Given the description of an element on the screen output the (x, y) to click on. 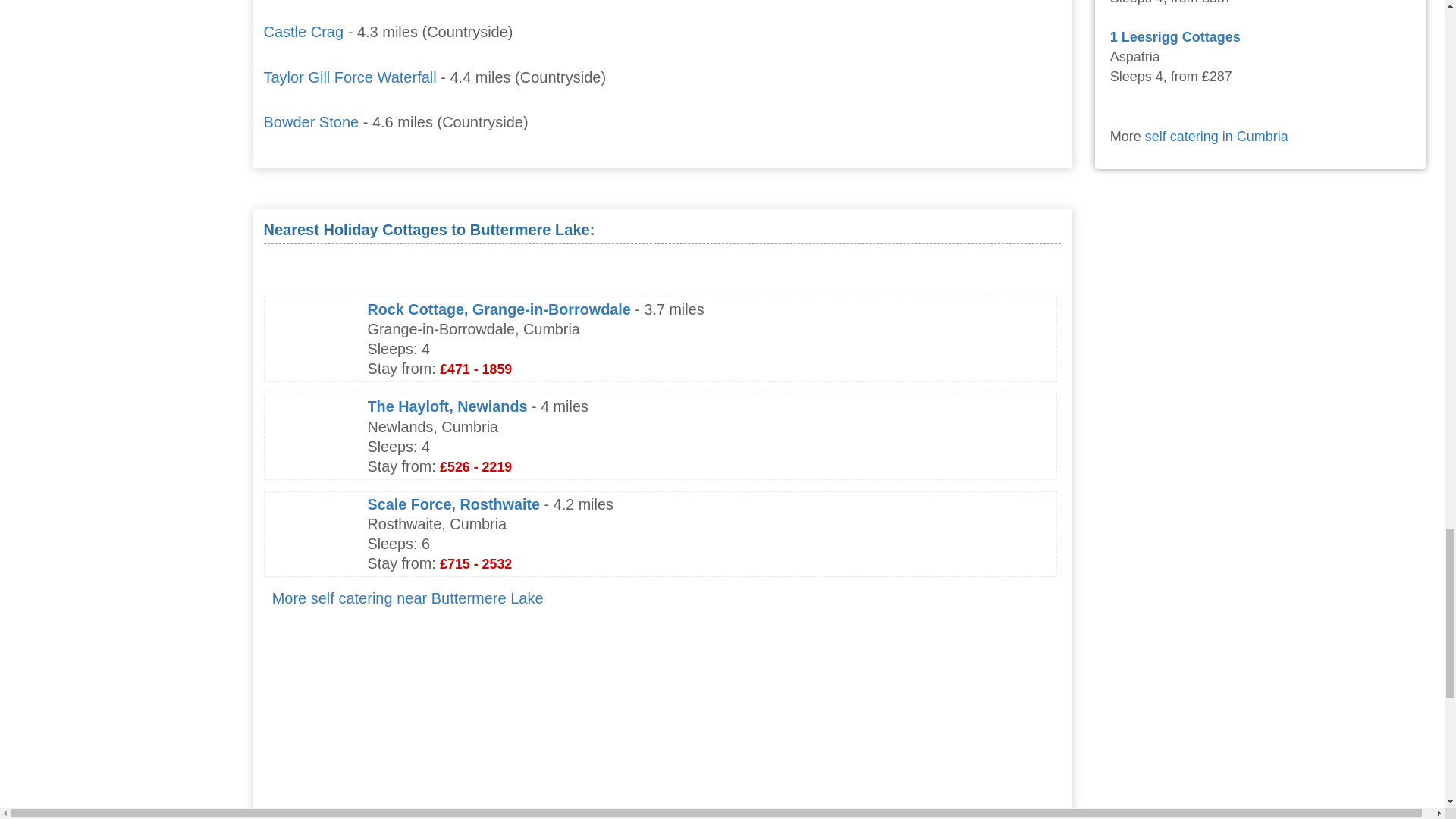
Bowder Stone, Countryside (311, 121)
